Given the description of an element on the screen output the (x, y) to click on. 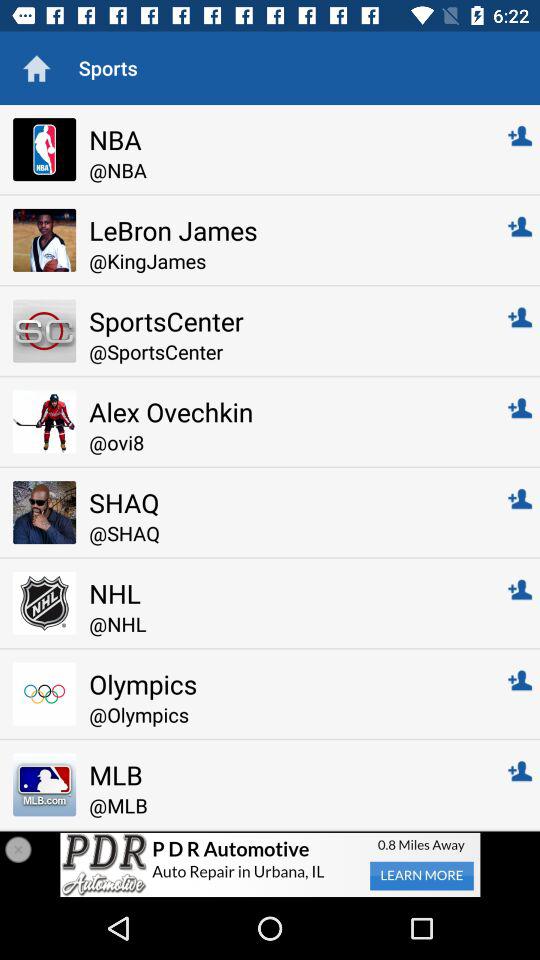
go to the advertisement 's website (270, 864)
